Given the description of an element on the screen output the (x, y) to click on. 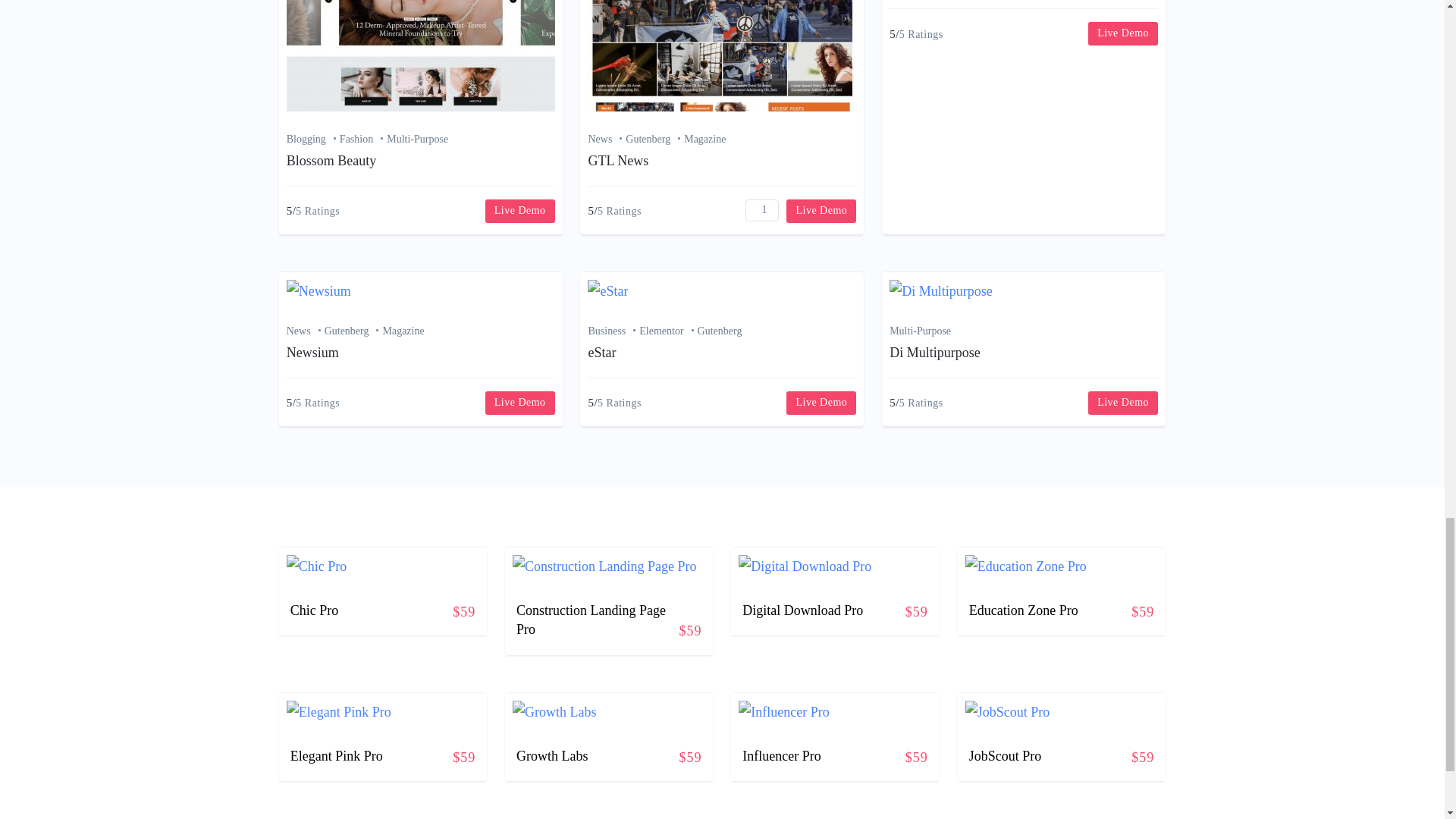
Live Demo (821, 210)
Live Demo (519, 210)
Fashion (363, 139)
Magazine (704, 139)
Blogging (312, 139)
Blossom Beauty (331, 160)
Gutenberg (655, 139)
Multi-Purpose (417, 139)
GTL News (617, 160)
News (607, 139)
